Given the description of an element on the screen output the (x, y) to click on. 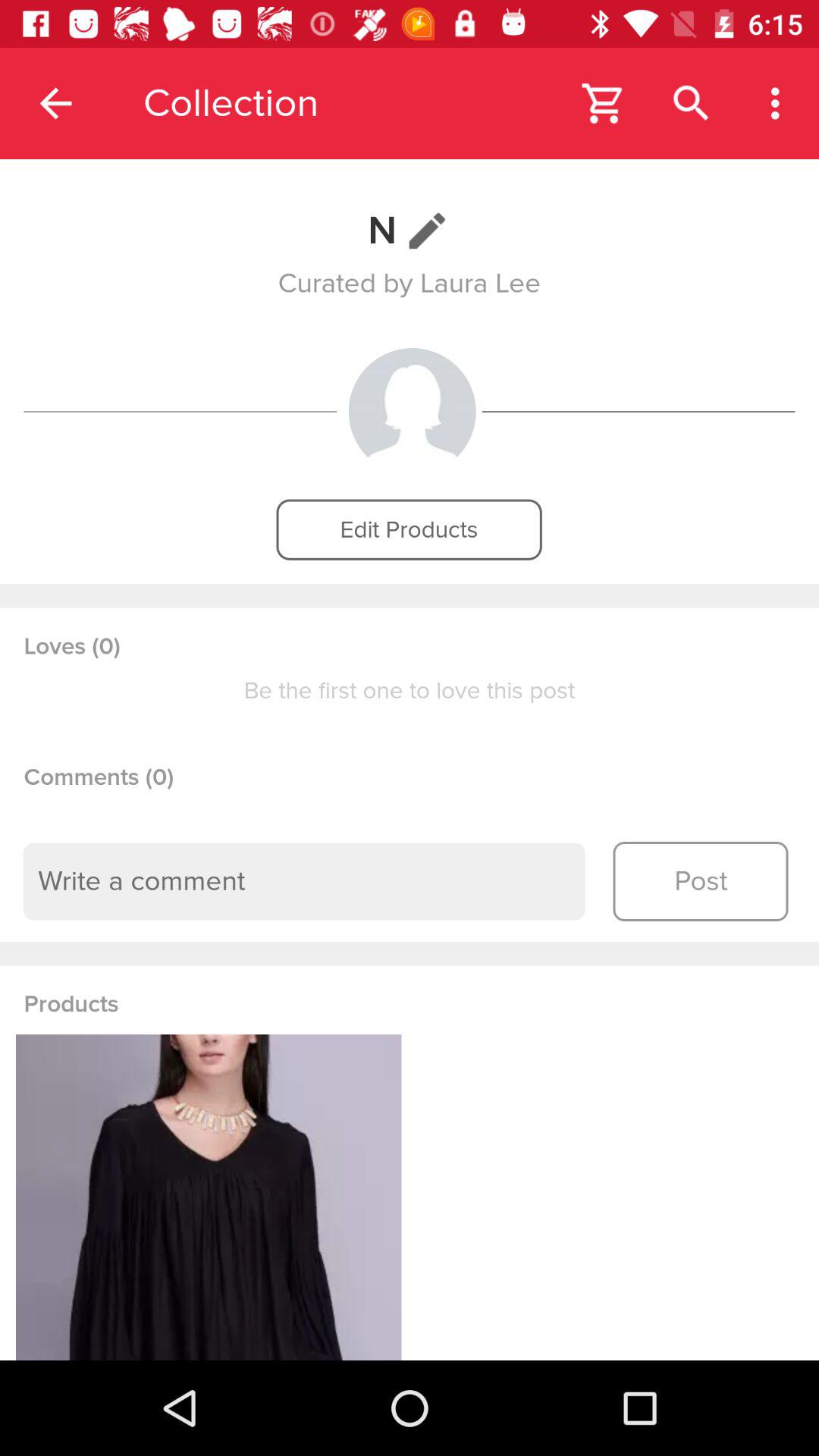
choose app next to collection icon (603, 103)
